Given the description of an element on the screen output the (x, y) to click on. 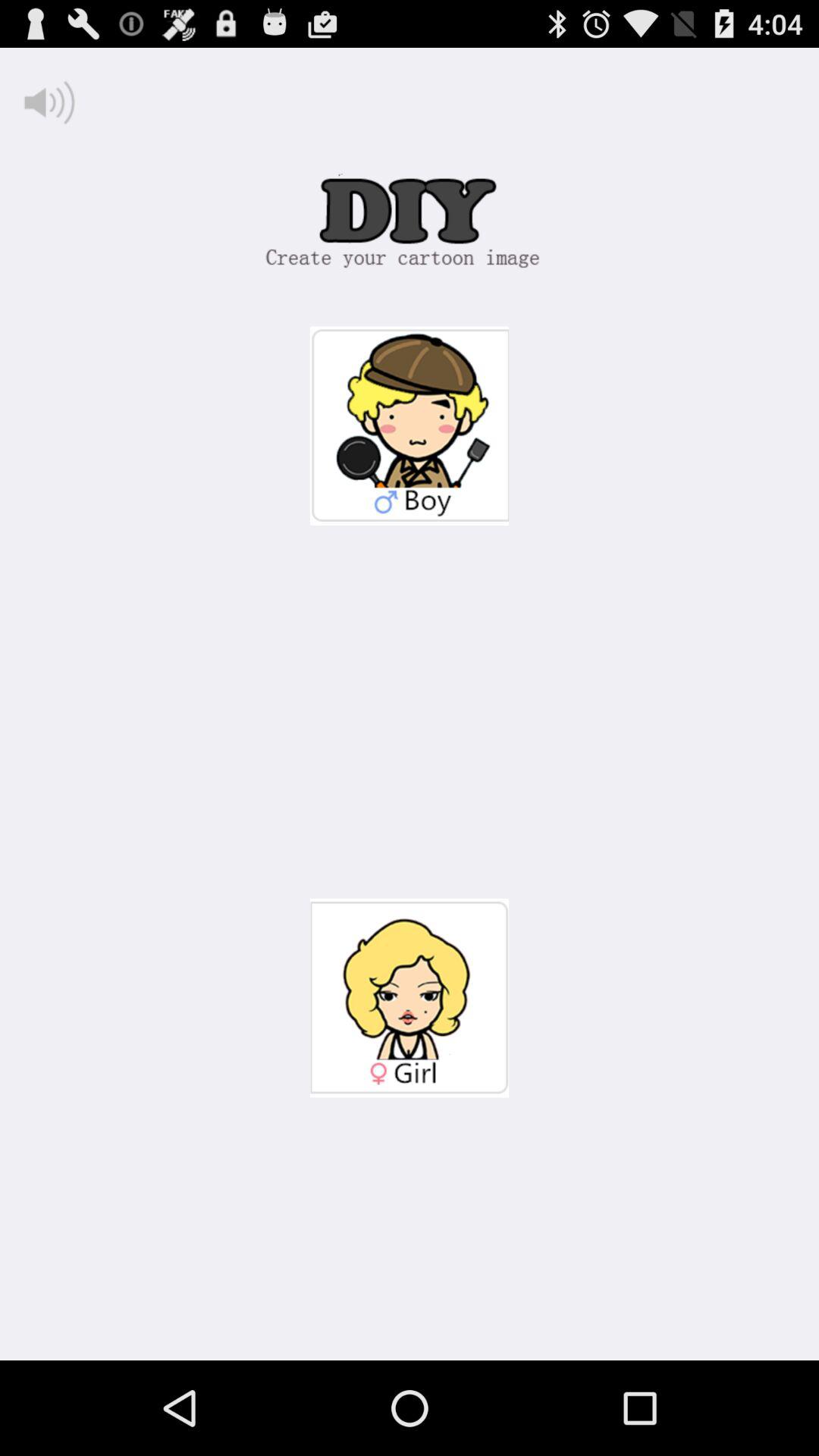
select 'boy option (409, 425)
